Given the description of an element on the screen output the (x, y) to click on. 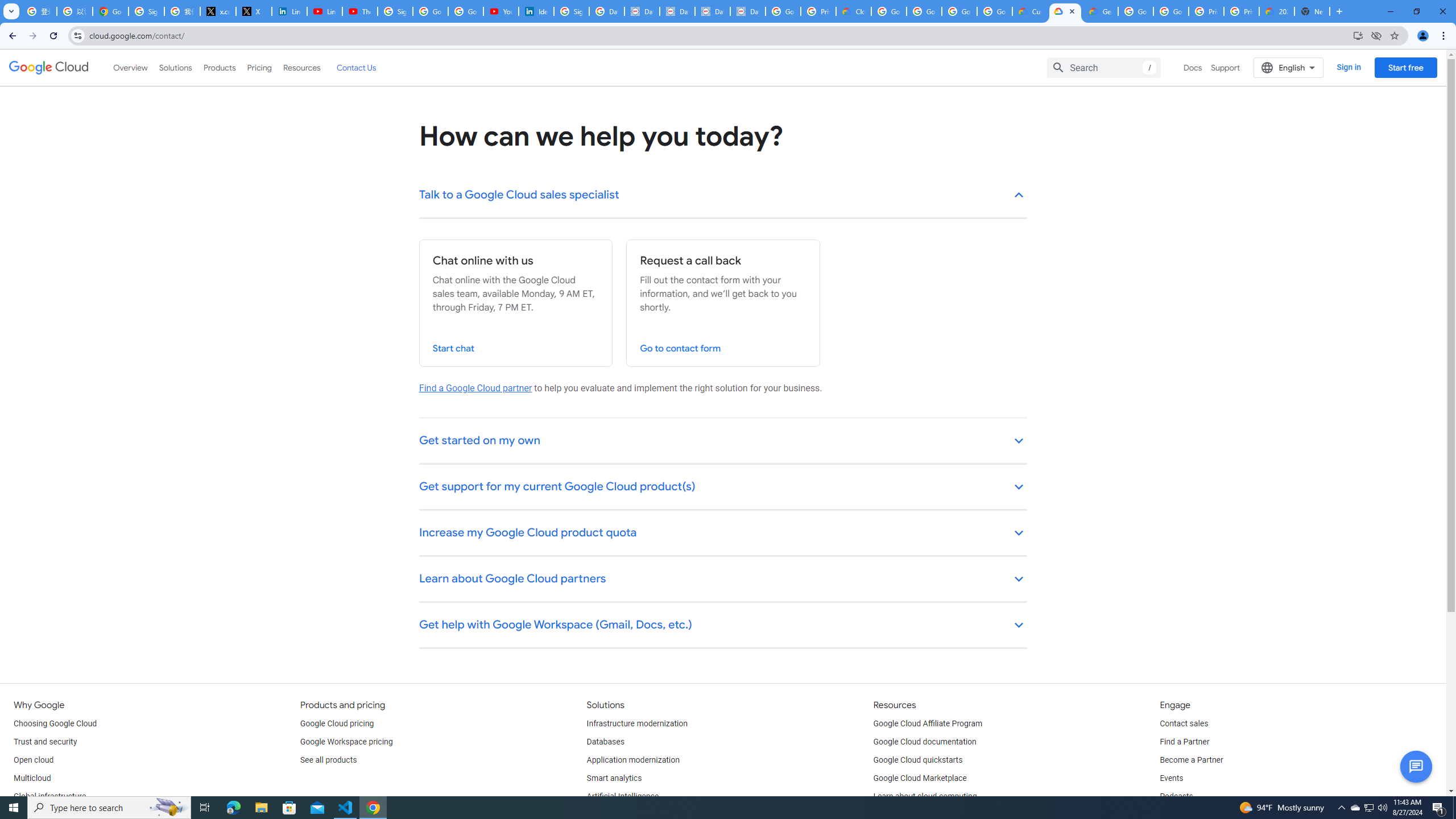
Sign in - Google Accounts (145, 11)
Data Privacy Framework (641, 11)
Google Cloud Affiliate Program (927, 723)
Contact sales (1183, 723)
Google Cloud Platform (1135, 11)
